Given the description of an element on the screen output the (x, y) to click on. 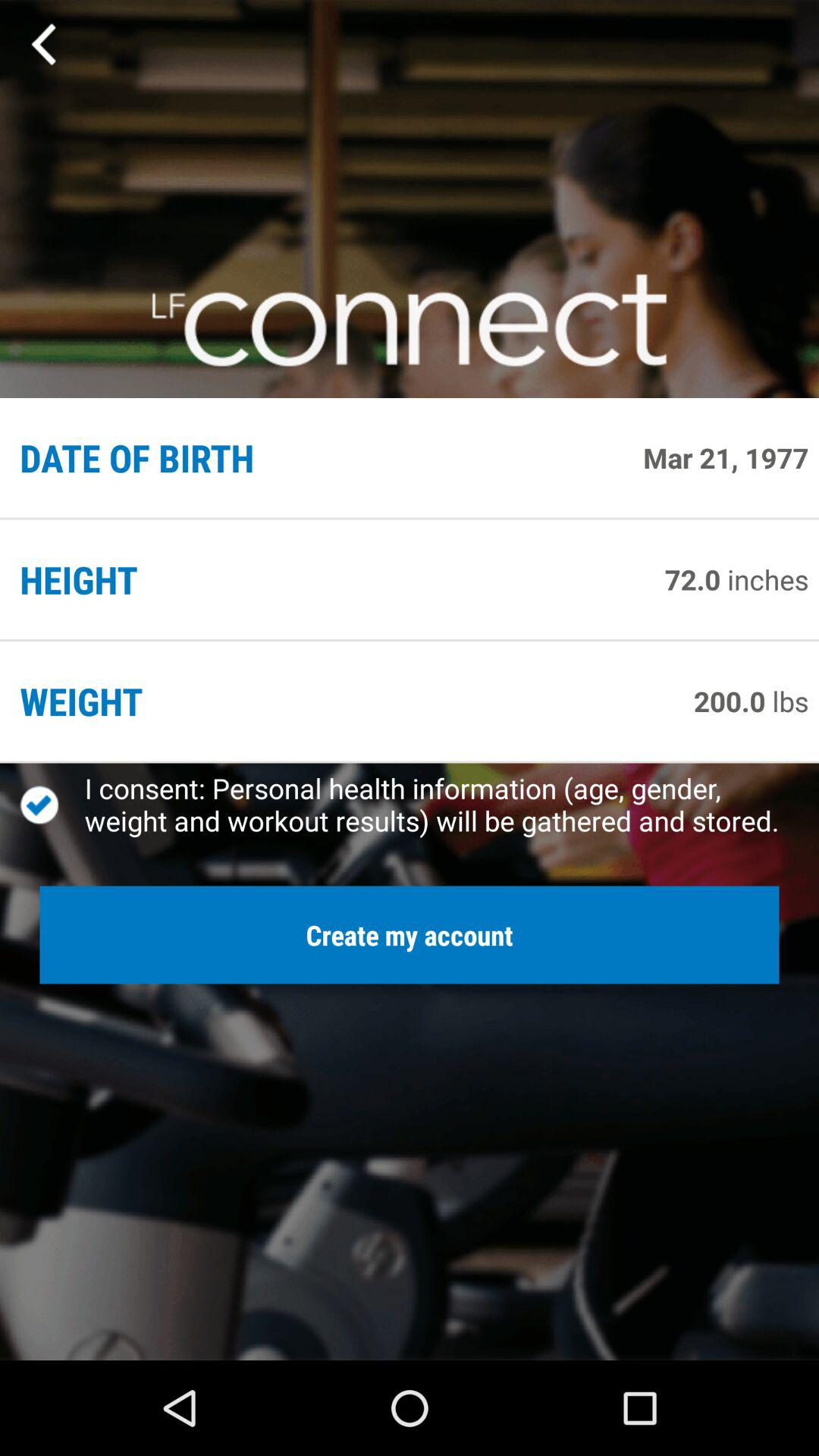
previous (44, 44)
